Given the description of an element on the screen output the (x, y) to click on. 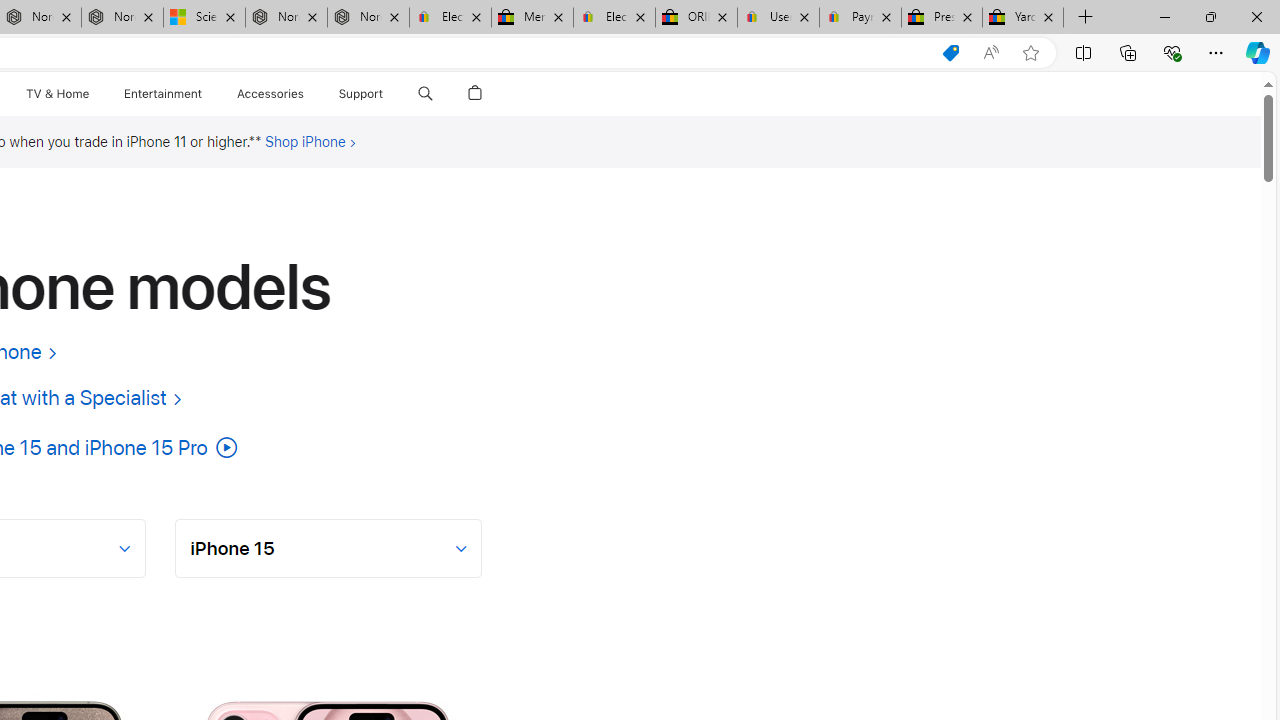
Support menu (387, 93)
Support (361, 93)
Accessories (269, 93)
Accessories menu (306, 93)
Class: globalnav-submenu-trigger-item (387, 93)
